Given the description of an element on the screen output the (x, y) to click on. 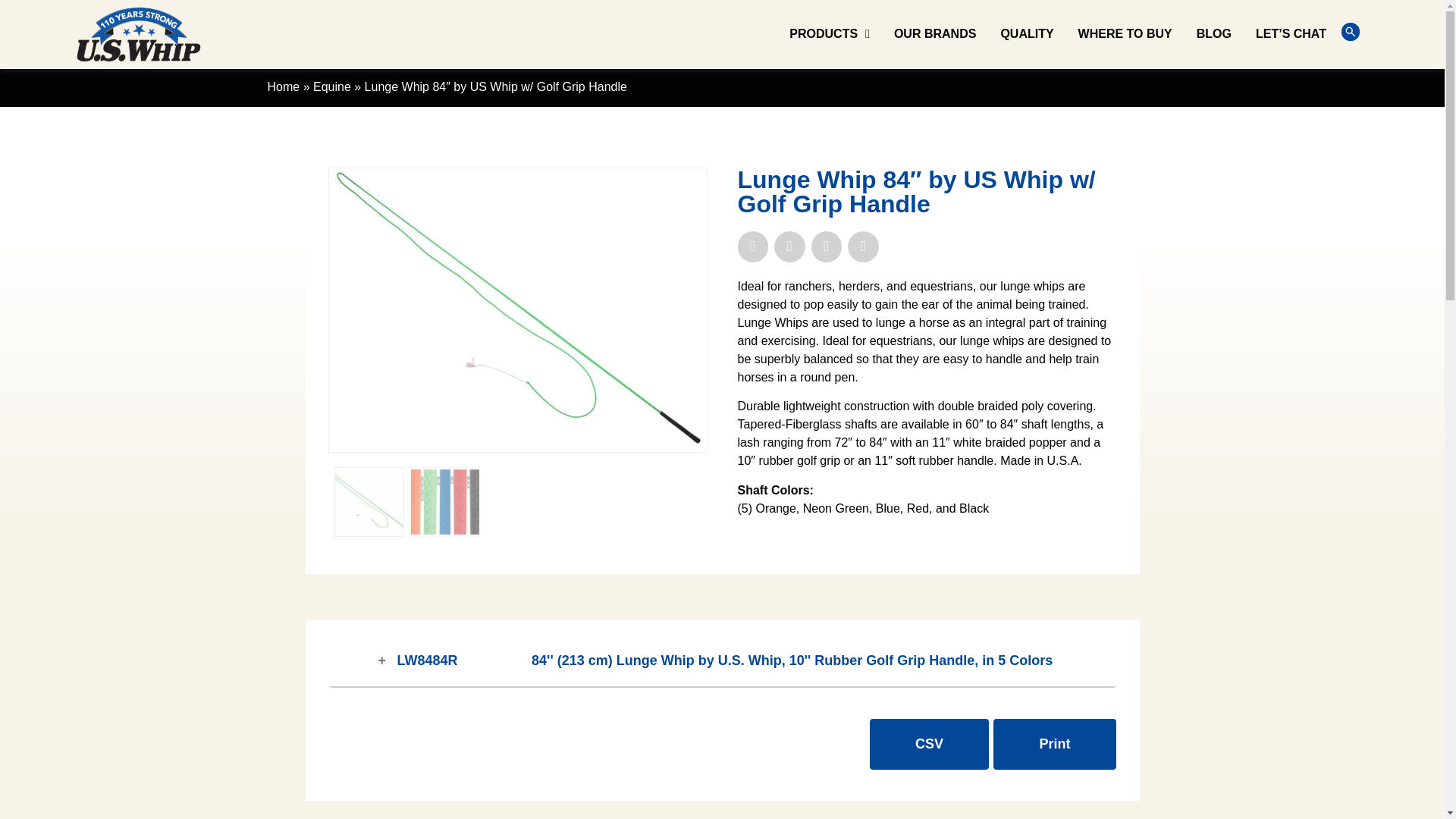
OUR BRANDS (934, 33)
BLOG (1214, 33)
PRODUCTS (828, 33)
QUALITY (1026, 33)
WHERE TO BUY (1125, 33)
